Given the description of an element on the screen output the (x, y) to click on. 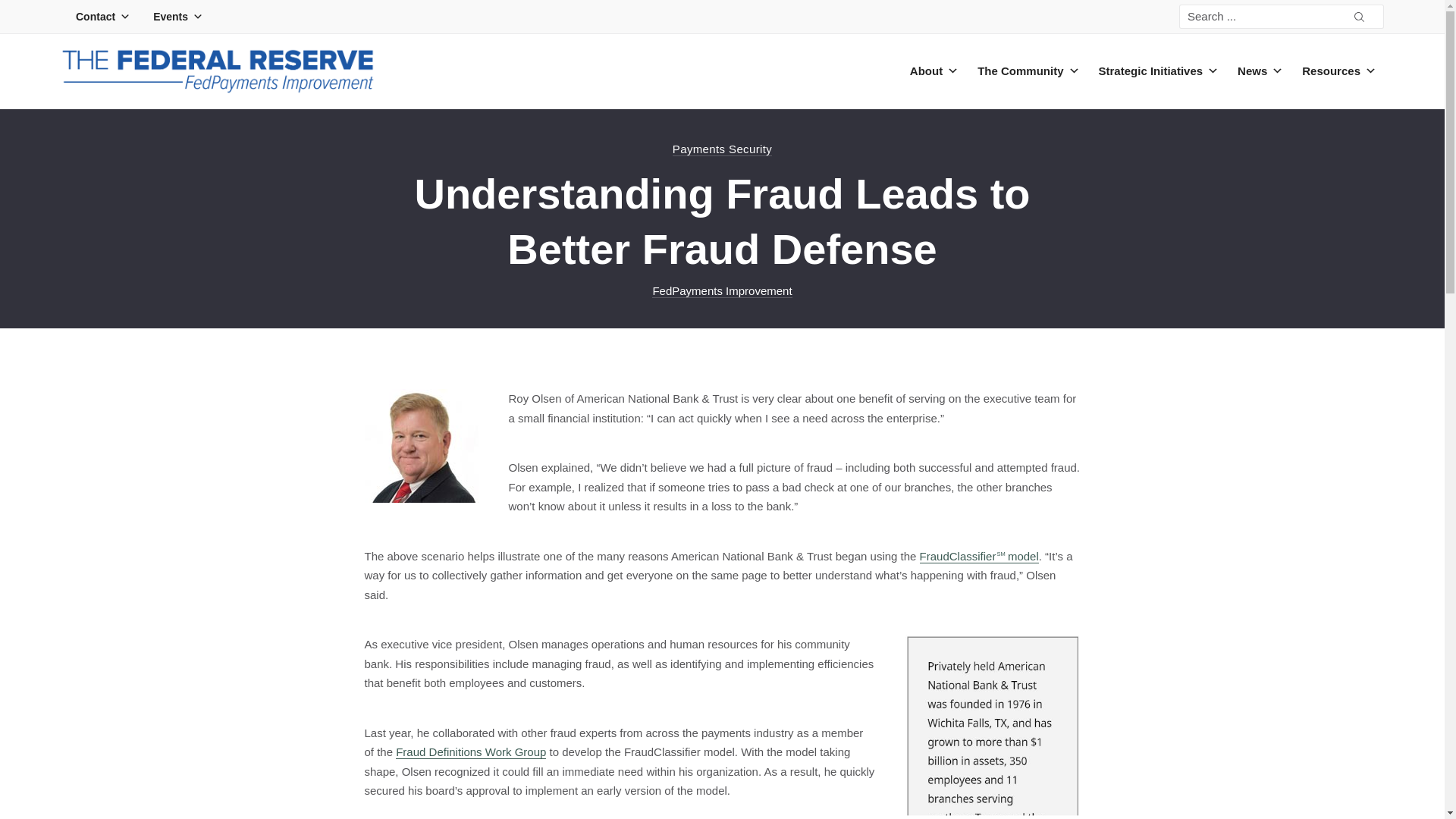
Contact (99, 16)
About (932, 71)
Events (174, 16)
Search Website (1359, 16)
View all posts in Payments Security (721, 149)
The Community (1026, 71)
Strategic Initiatives (1157, 71)
News (1257, 71)
